Given the description of an element on the screen output the (x, y) to click on. 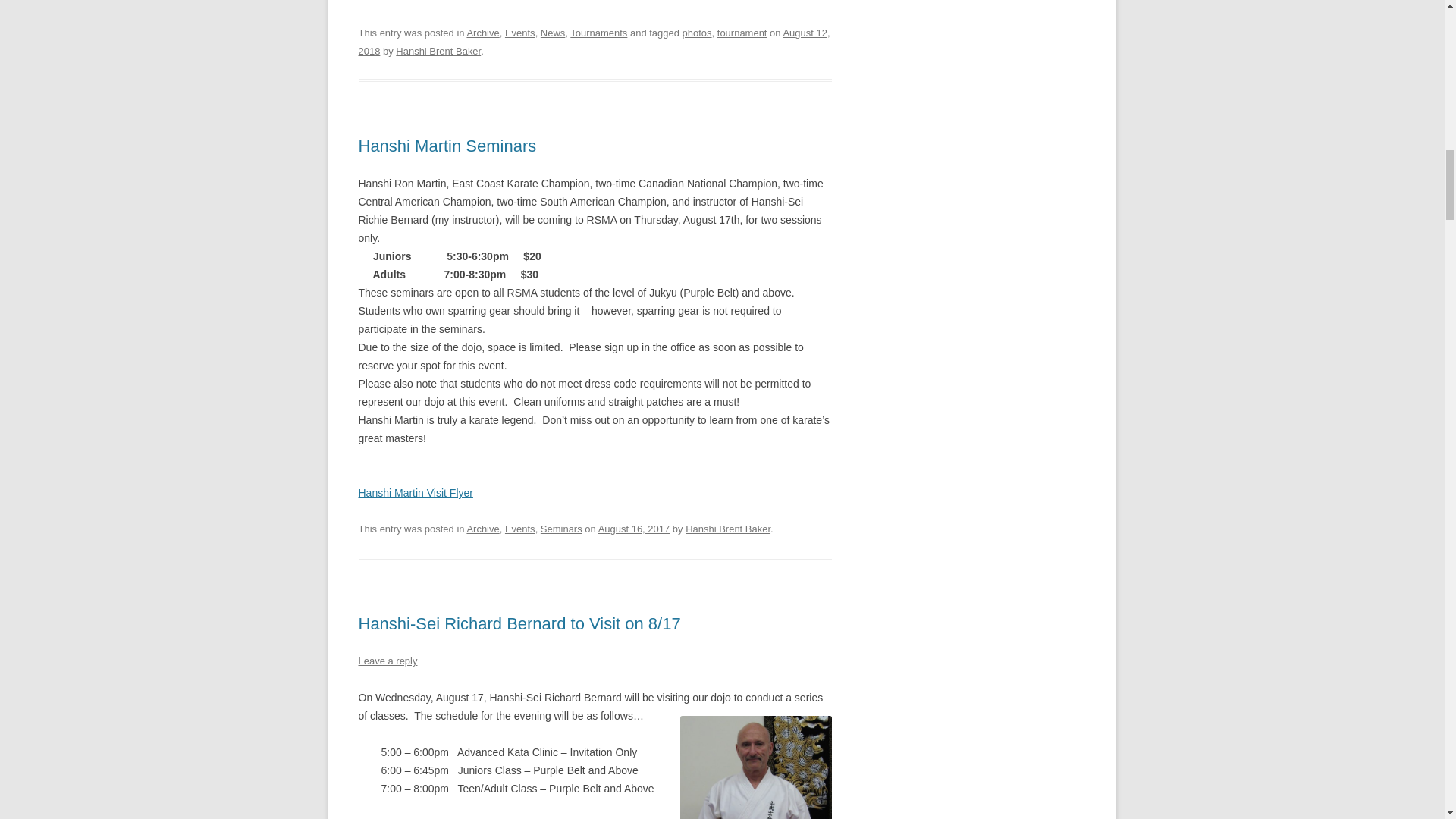
View all posts by Hanshi Brent Baker (438, 50)
9:40 am (593, 41)
View all posts by Hanshi Brent Baker (727, 528)
10:38 am (633, 528)
